Given the description of an element on the screen output the (x, y) to click on. 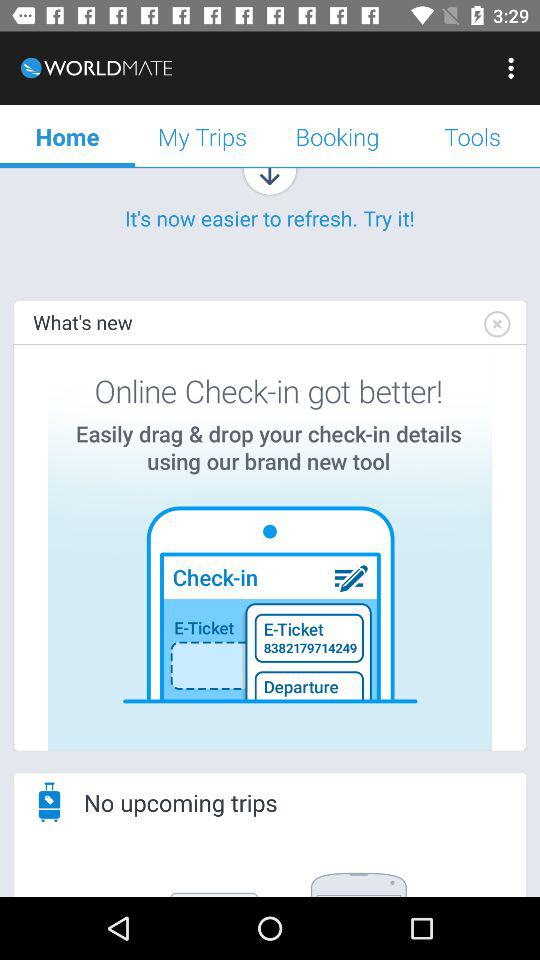
tap app next to the my trips icon (67, 136)
